Given the description of an element on the screen output the (x, y) to click on. 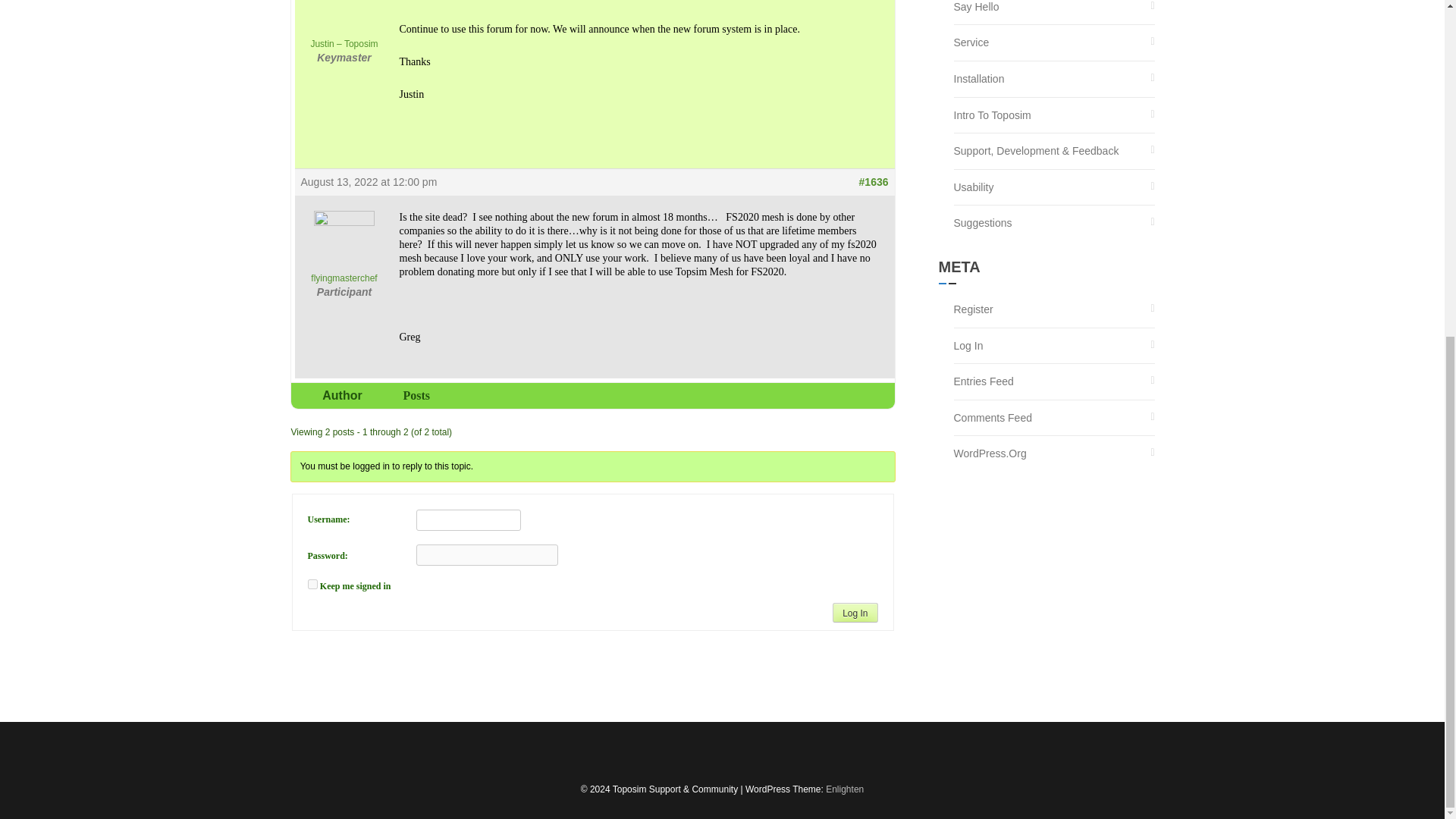
Suggestions (982, 222)
Enlighten (844, 788)
Log In (854, 612)
Usability (973, 187)
View flyingmasterchef's profile (343, 247)
Say Hello (975, 12)
Service (971, 42)
flyingmasterchef (343, 247)
Entries Feed (983, 381)
Register (972, 309)
